Given the description of an element on the screen output the (x, y) to click on. 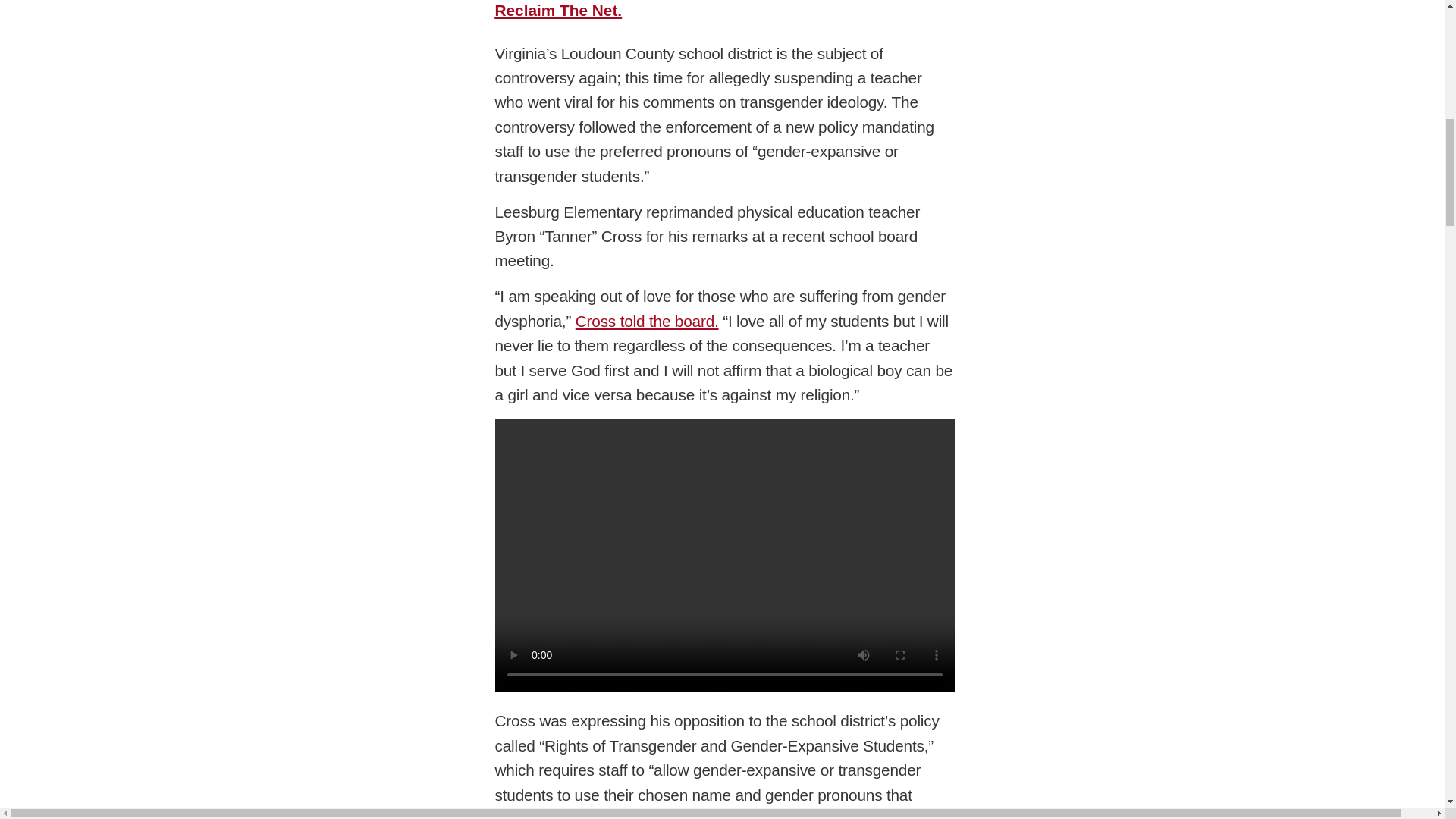
Cross told the board. (647, 321)
subscribe to Reclaim The Net. (714, 9)
